Given the description of an element on the screen output the (x, y) to click on. 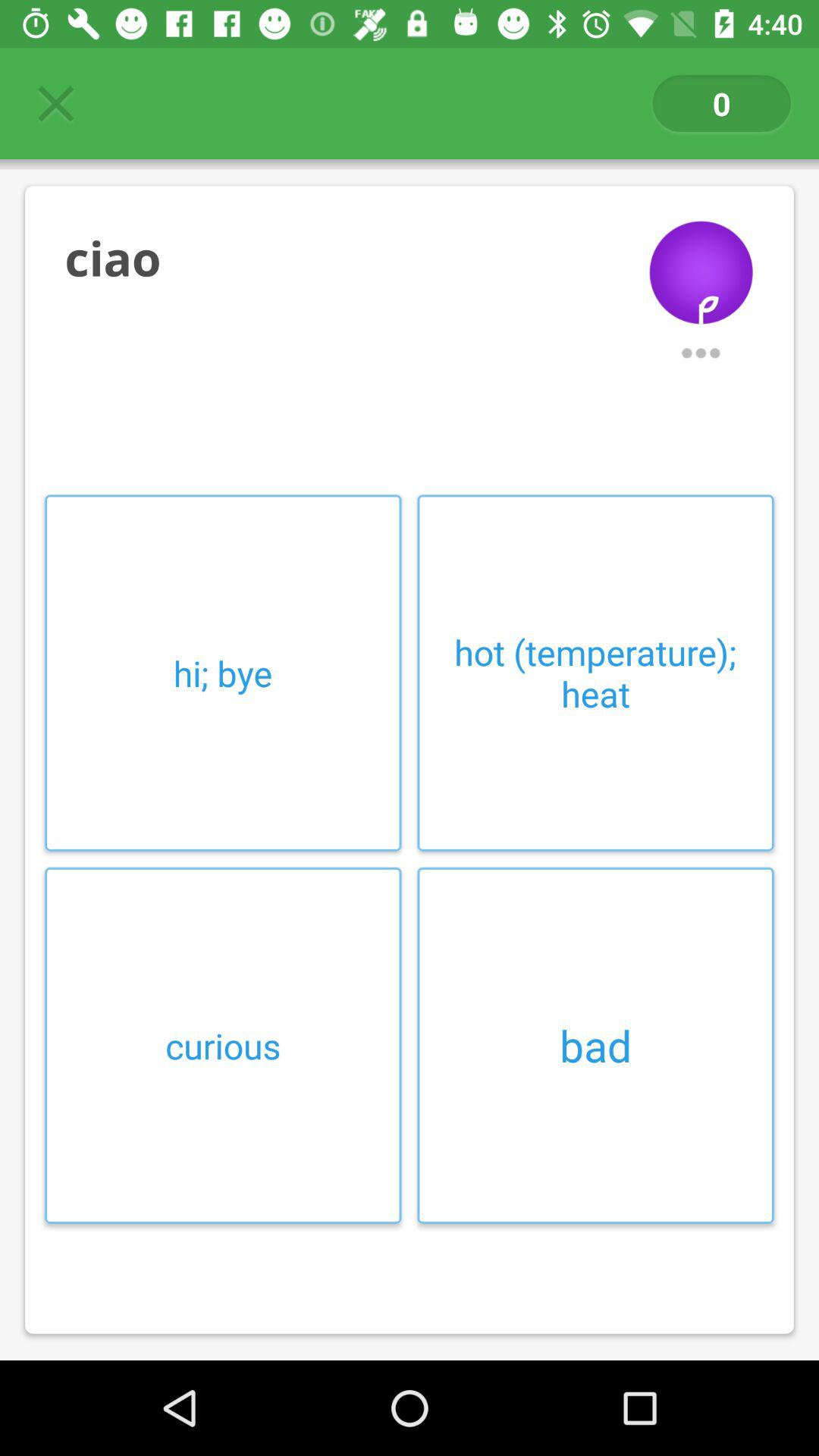
flip to hi; bye item (222, 672)
